Given the description of an element on the screen output the (x, y) to click on. 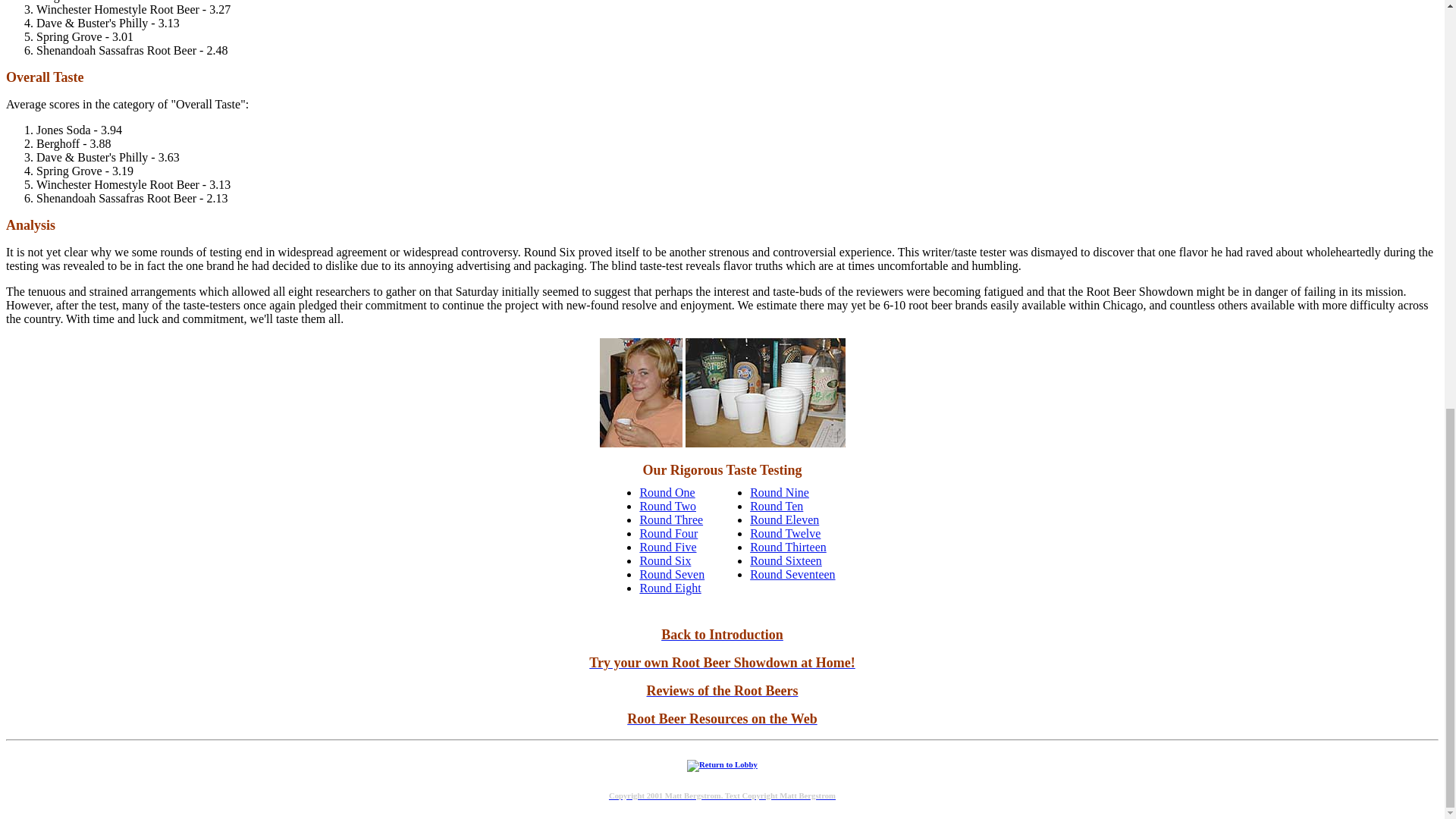
Round Ten (776, 505)
Root Beer Resources on the Web (721, 718)
Round One (666, 492)
Round Thirteen (788, 546)
Round Three (671, 519)
Round Five (667, 546)
Try your own Root Beer Showdown at Home! (722, 662)
Round Eleven (783, 519)
Round Seven (671, 574)
Round Eight (669, 587)
